Given the description of an element on the screen output the (x, y) to click on. 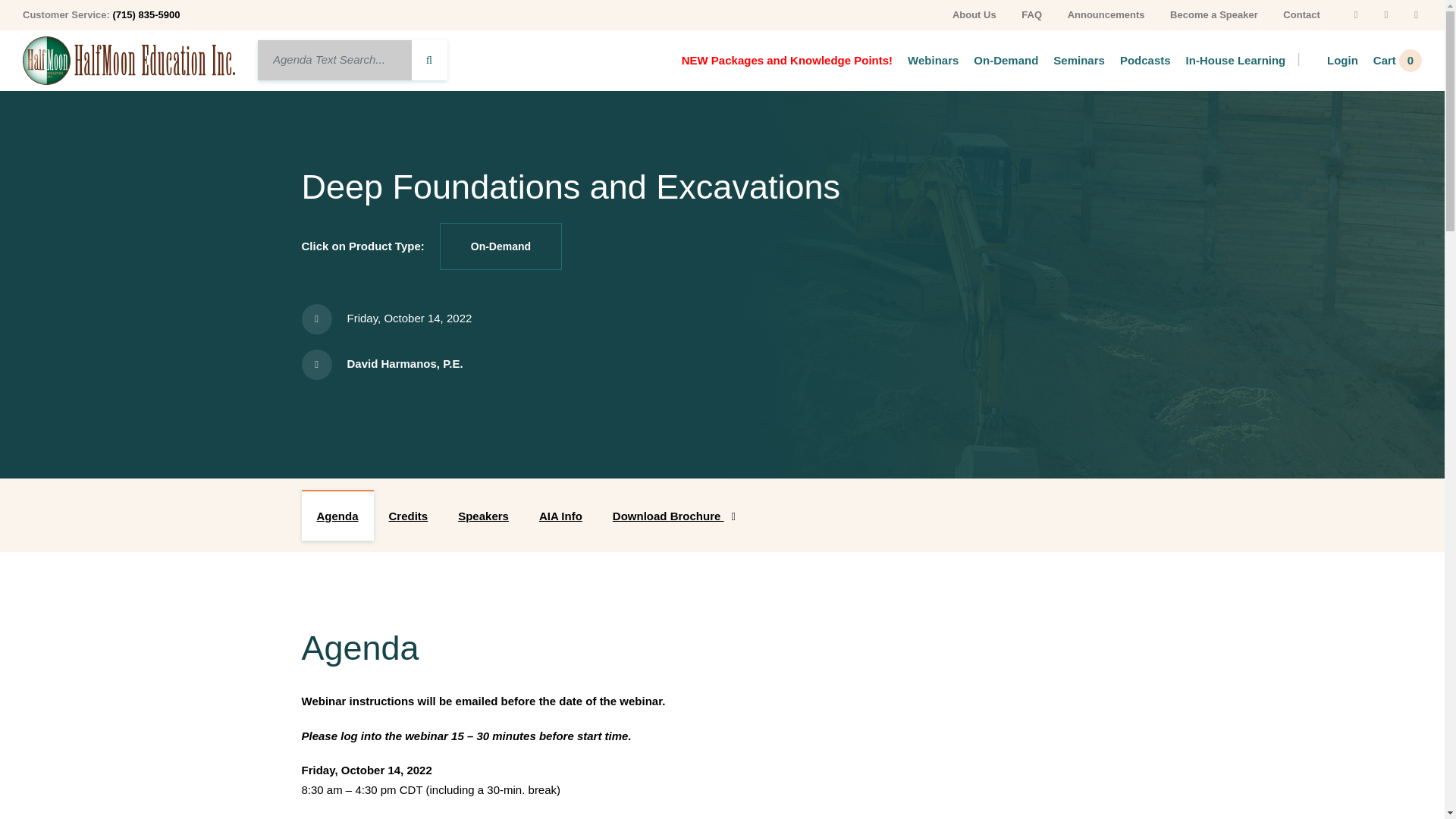
Seminars (1071, 59)
In-House Learning (1227, 59)
Become a Speaker (1213, 14)
On-Demand (998, 59)
About Us (973, 14)
Search (334, 60)
Contact (1300, 14)
Podcasts (1137, 59)
FAQ (1031, 14)
Announcements (1106, 14)
